Given the description of an element on the screen output the (x, y) to click on. 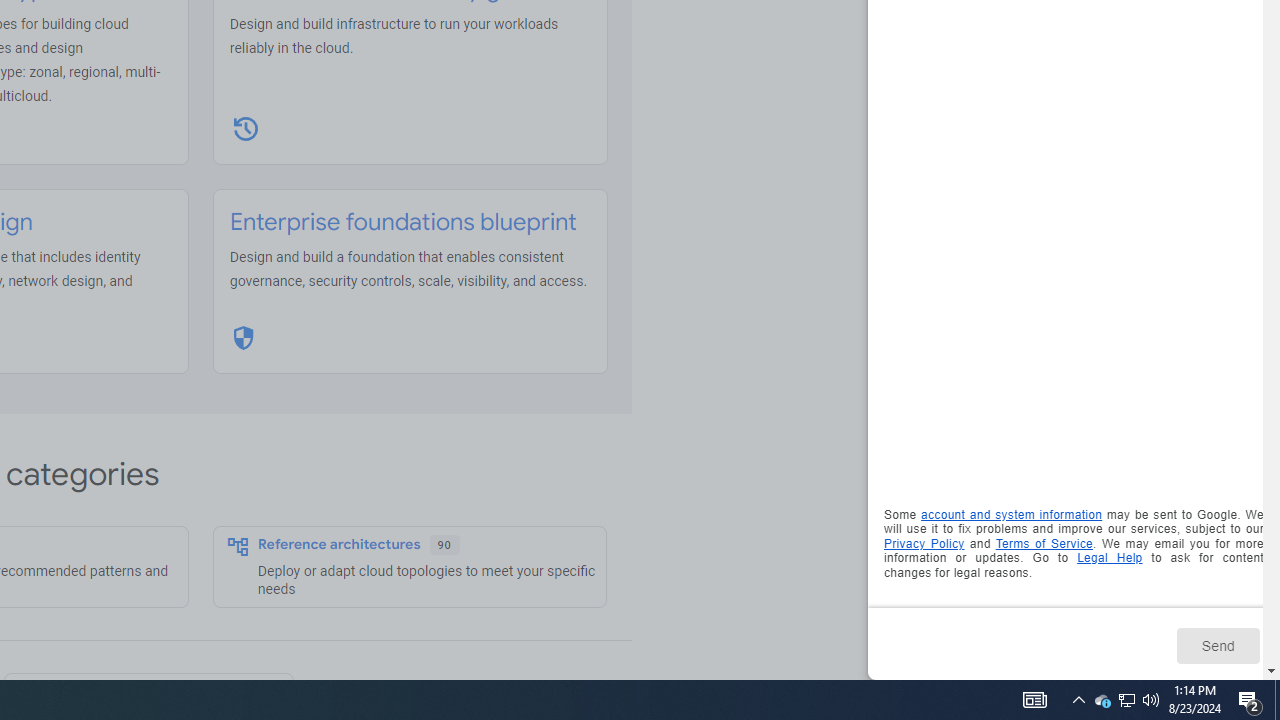
Opens in a new tab. Privacy Policy (924, 542)
Enterprise foundations blueprint (403, 221)
Opens in a new tab. Terms of Service (1044, 542)
account and system information (1012, 515)
Opens in a new tab. Legal Help (1109, 557)
Send (1217, 645)
